Given the description of an element on the screen output the (x, y) to click on. 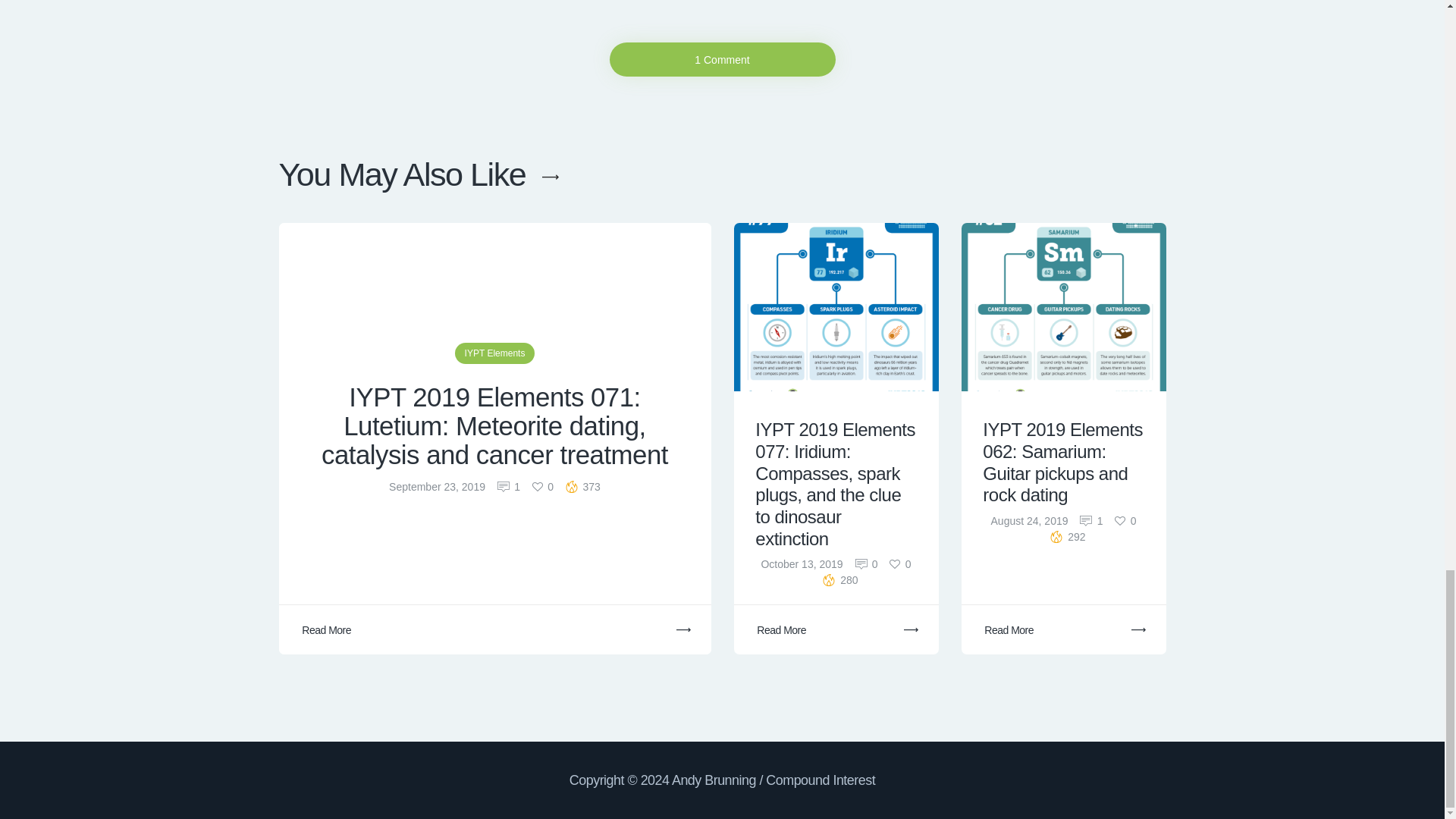
Like (542, 486)
Like (900, 563)
Like (1125, 521)
